Given the description of an element on the screen output the (x, y) to click on. 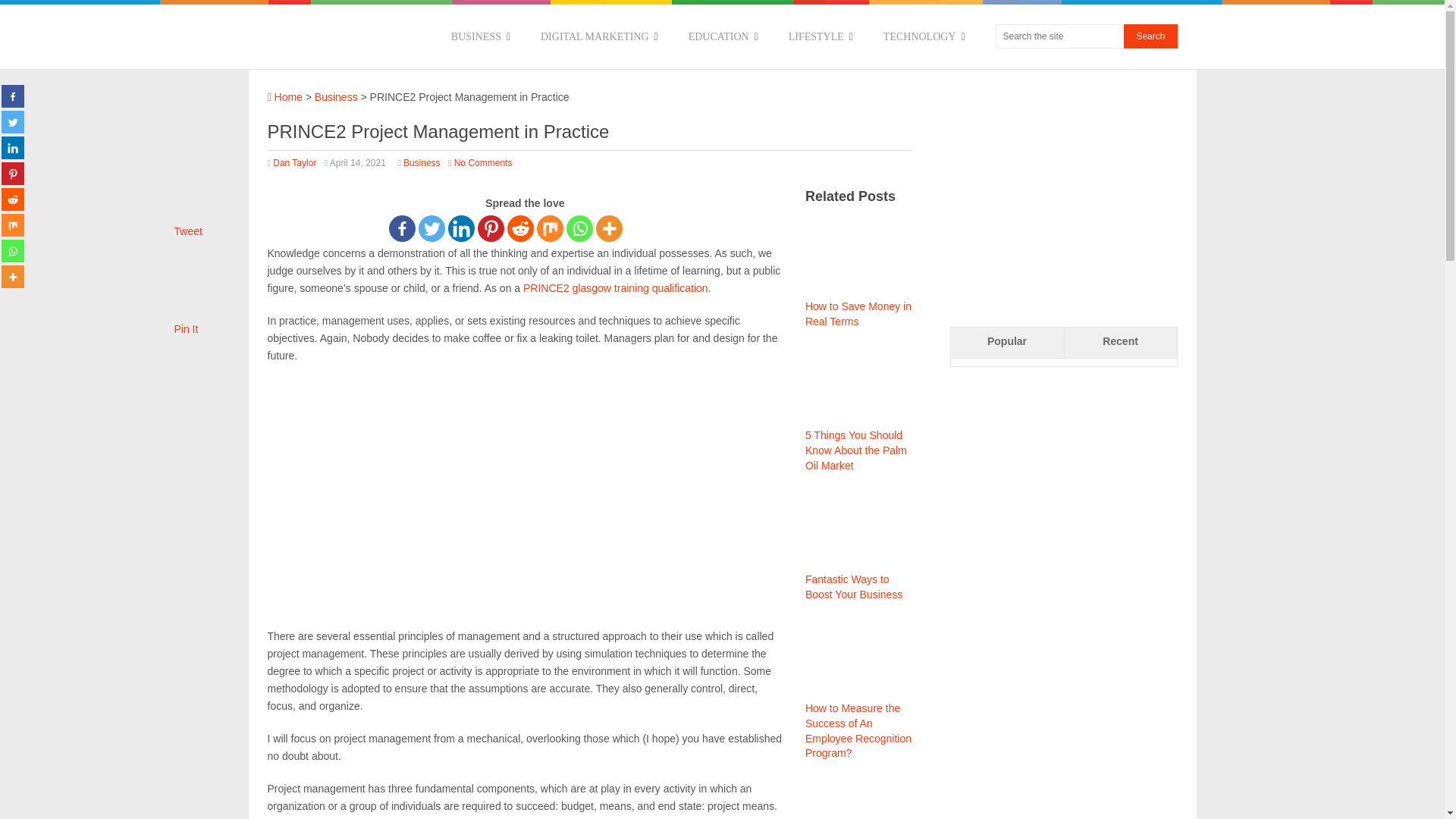
Twitter (12, 121)
BUSINESS (481, 36)
Pinterest (12, 173)
Whatsapp (579, 228)
Mix (12, 224)
Facebook (401, 228)
Linkedin (12, 147)
Facebook (12, 96)
LIFESTYLE (821, 36)
DIGITAL MARKETING (599, 36)
